Given the description of an element on the screen output the (x, y) to click on. 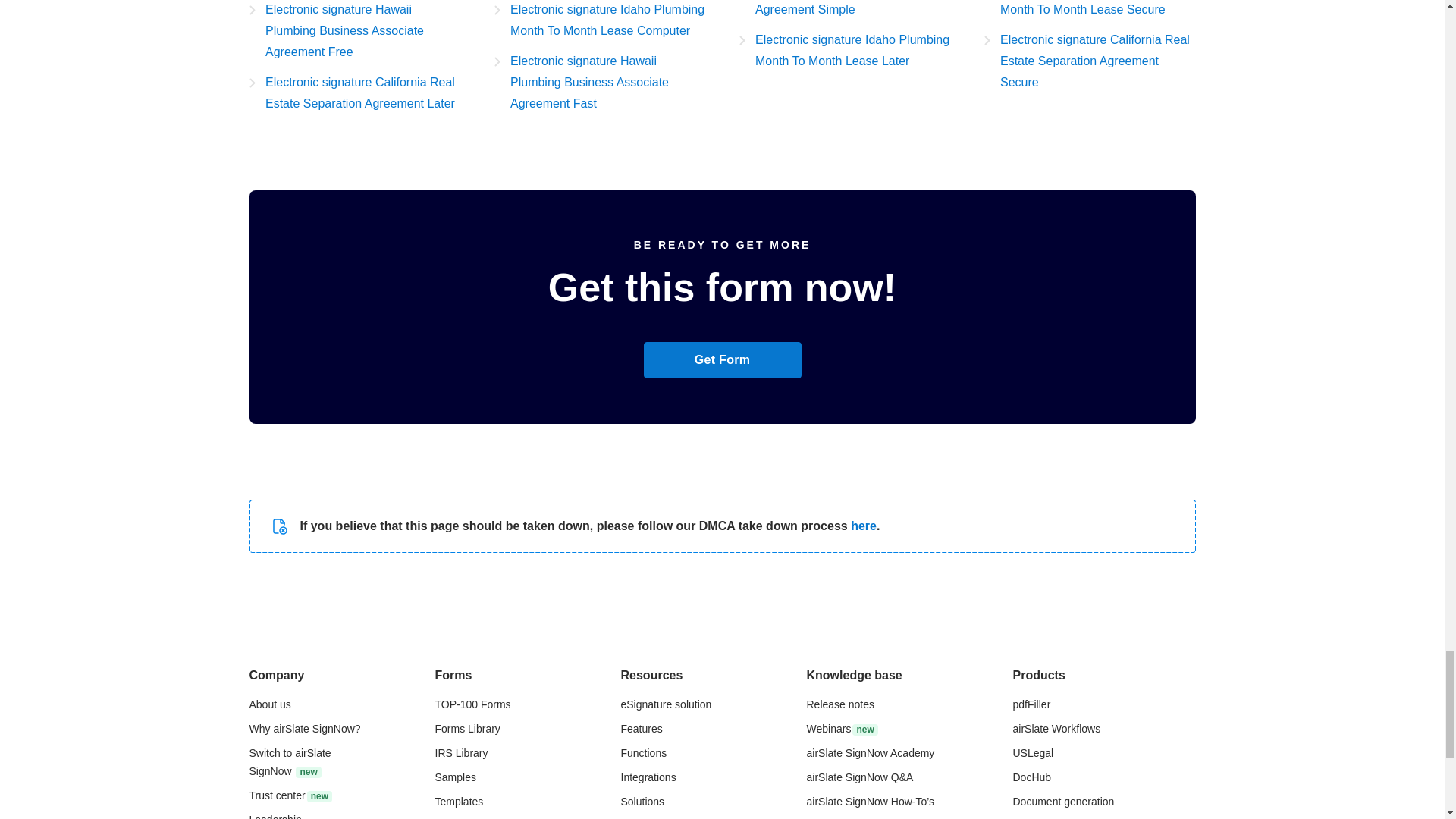
Go to the Migrate page (289, 761)
Go to the  airSlate signNow  irs library page (461, 752)
Go to the About Us page (268, 704)
Go to the top 100 forms page (473, 704)
Go to the leadership page (274, 816)
